Given the description of an element on the screen output the (x, y) to click on. 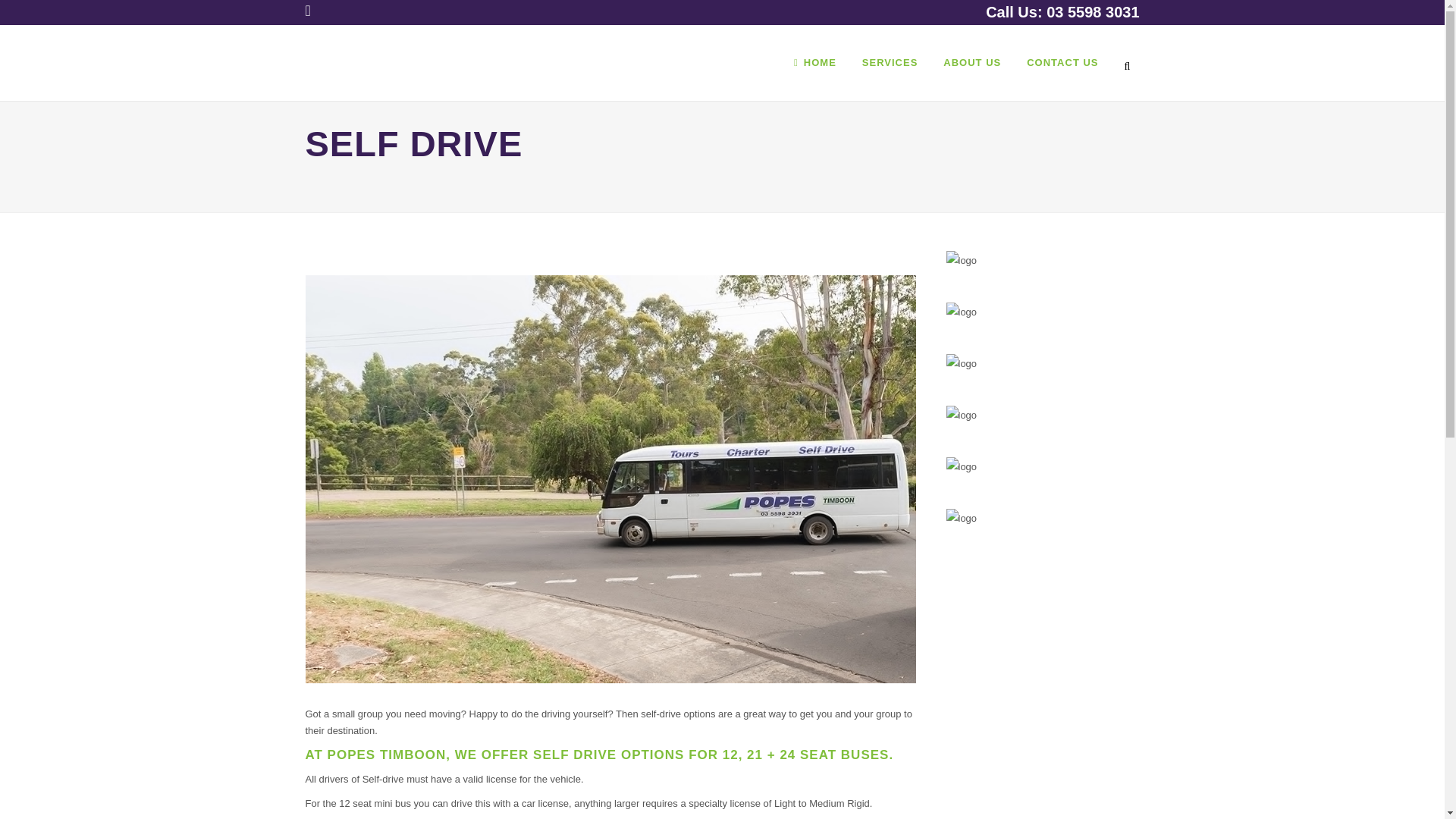
ABOUT US (971, 62)
03 5598 3031 (1092, 12)
SERVICES (889, 62)
HOME (814, 62)
CONTACT US (1061, 62)
